Given the description of an element on the screen output the (x, y) to click on. 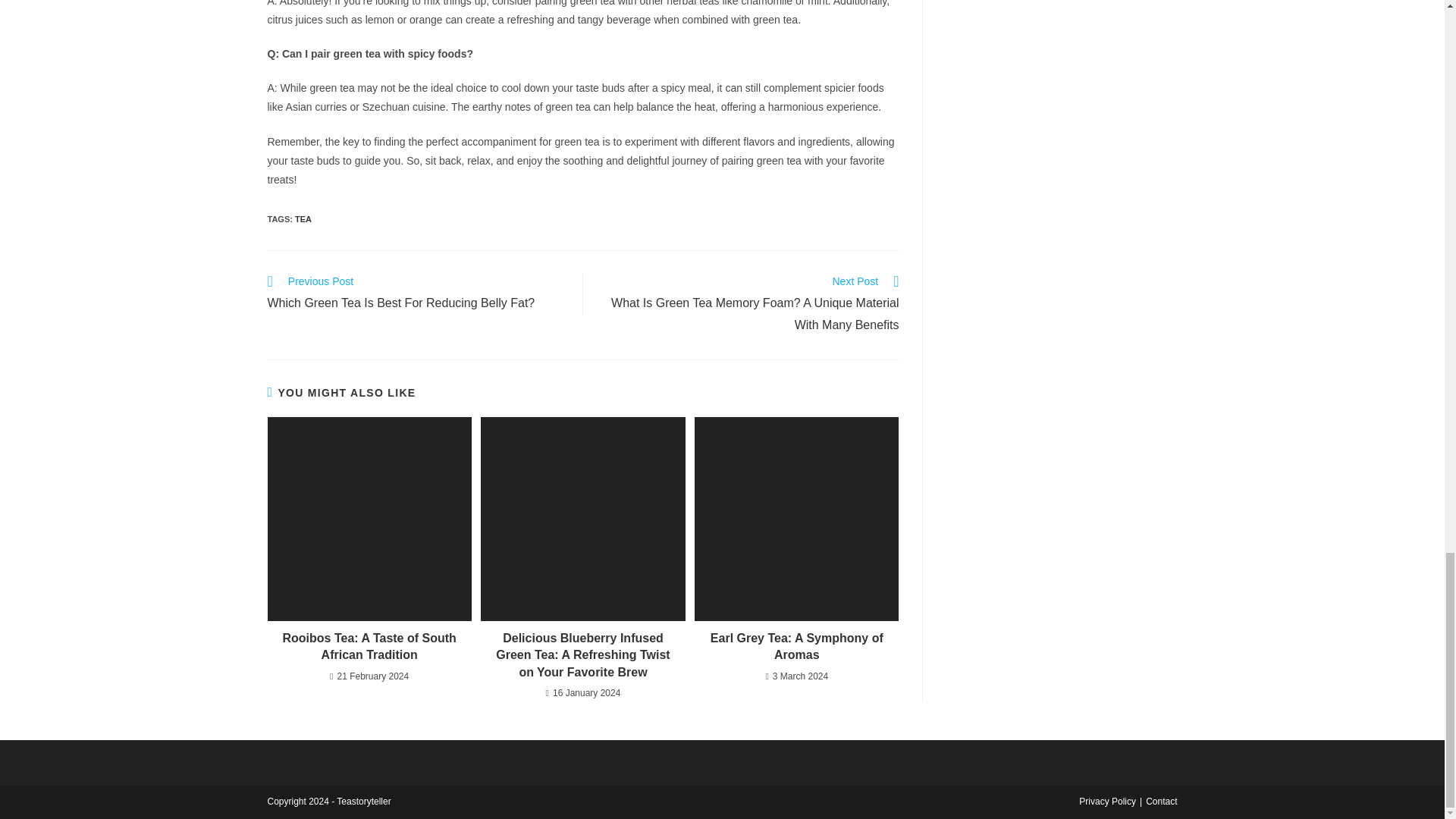
Rooibos Tea: A Taste of South African Tradition (368, 646)
TEA (303, 218)
Earl Grey Tea: A Symphony of Aromas (796, 646)
